Given the description of an element on the screen output the (x, y) to click on. 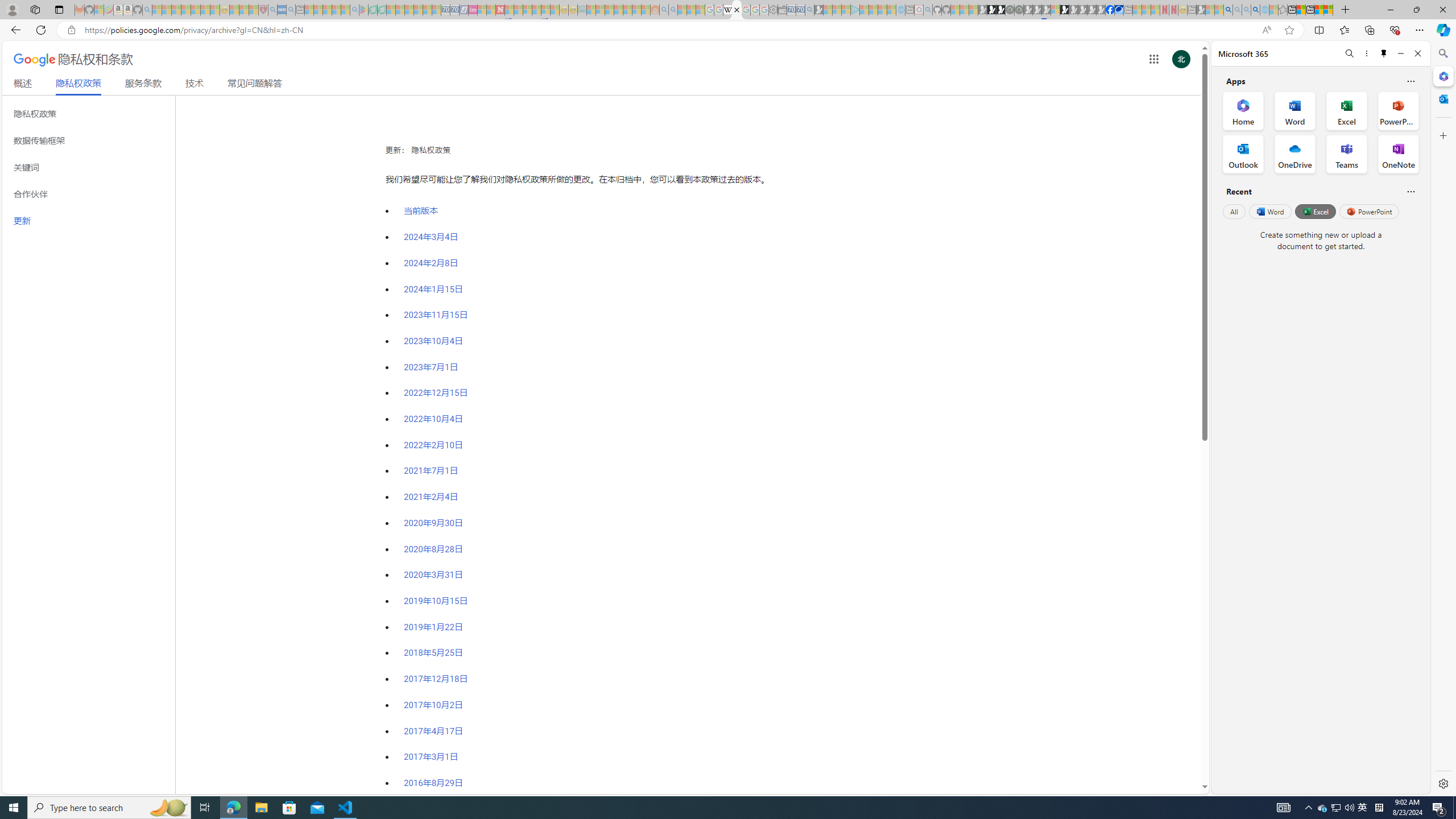
OneDrive Office App (1295, 154)
Class: gb_E (1153, 59)
Excel (1315, 210)
Bluey: Let's Play! - Apps on Google Play - Sleeping (362, 9)
DITOGAMES AG Imprint - Sleeping (581, 9)
